Given the description of an element on the screen output the (x, y) to click on. 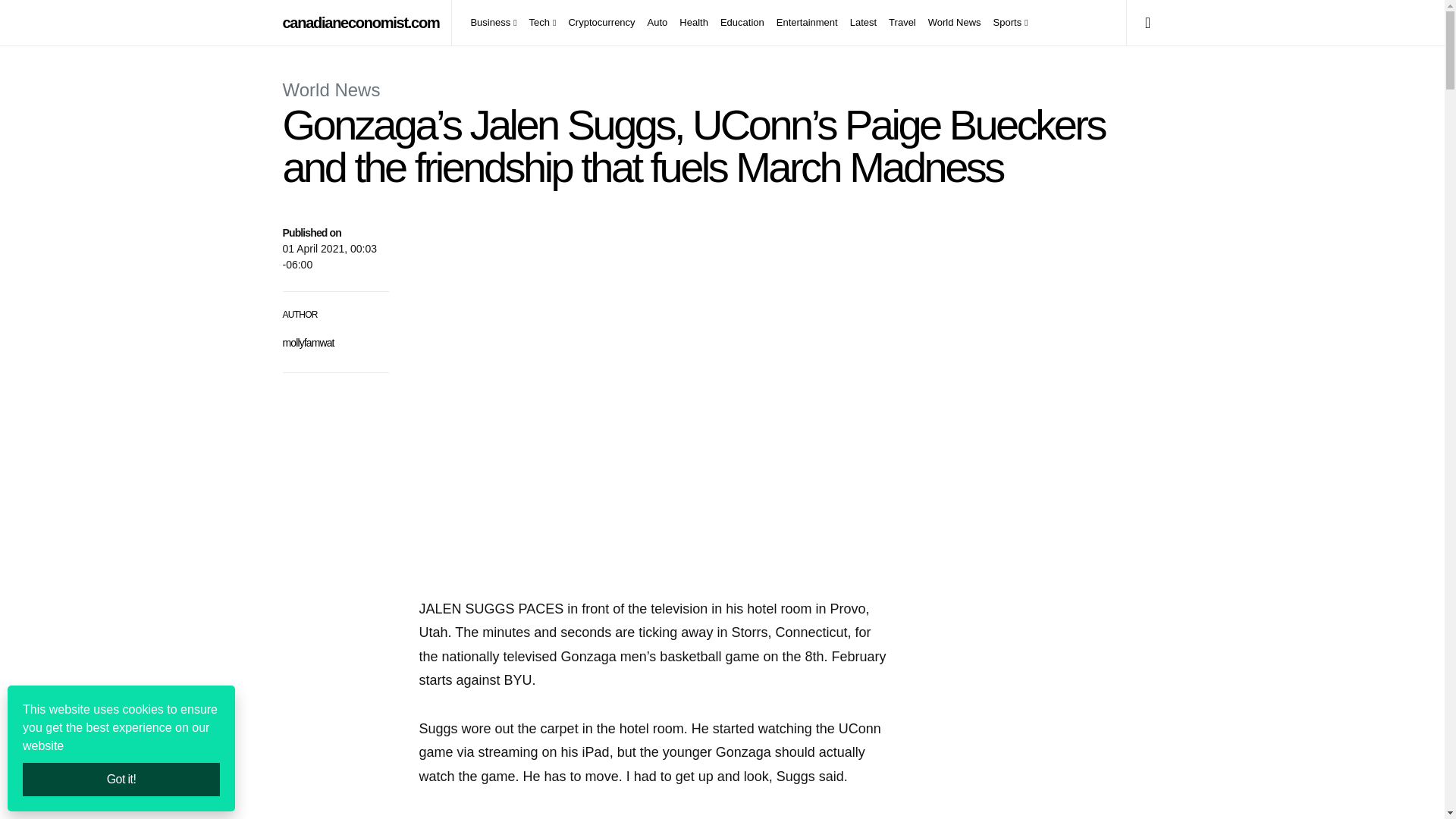
Advertisement (1047, 773)
Business (496, 22)
Health (693, 22)
Entertainment (807, 22)
Cryptocurrency (601, 22)
Education (742, 22)
World News (954, 22)
Sports (1007, 22)
canadianeconomist.com (360, 22)
